Given the description of an element on the screen output the (x, y) to click on. 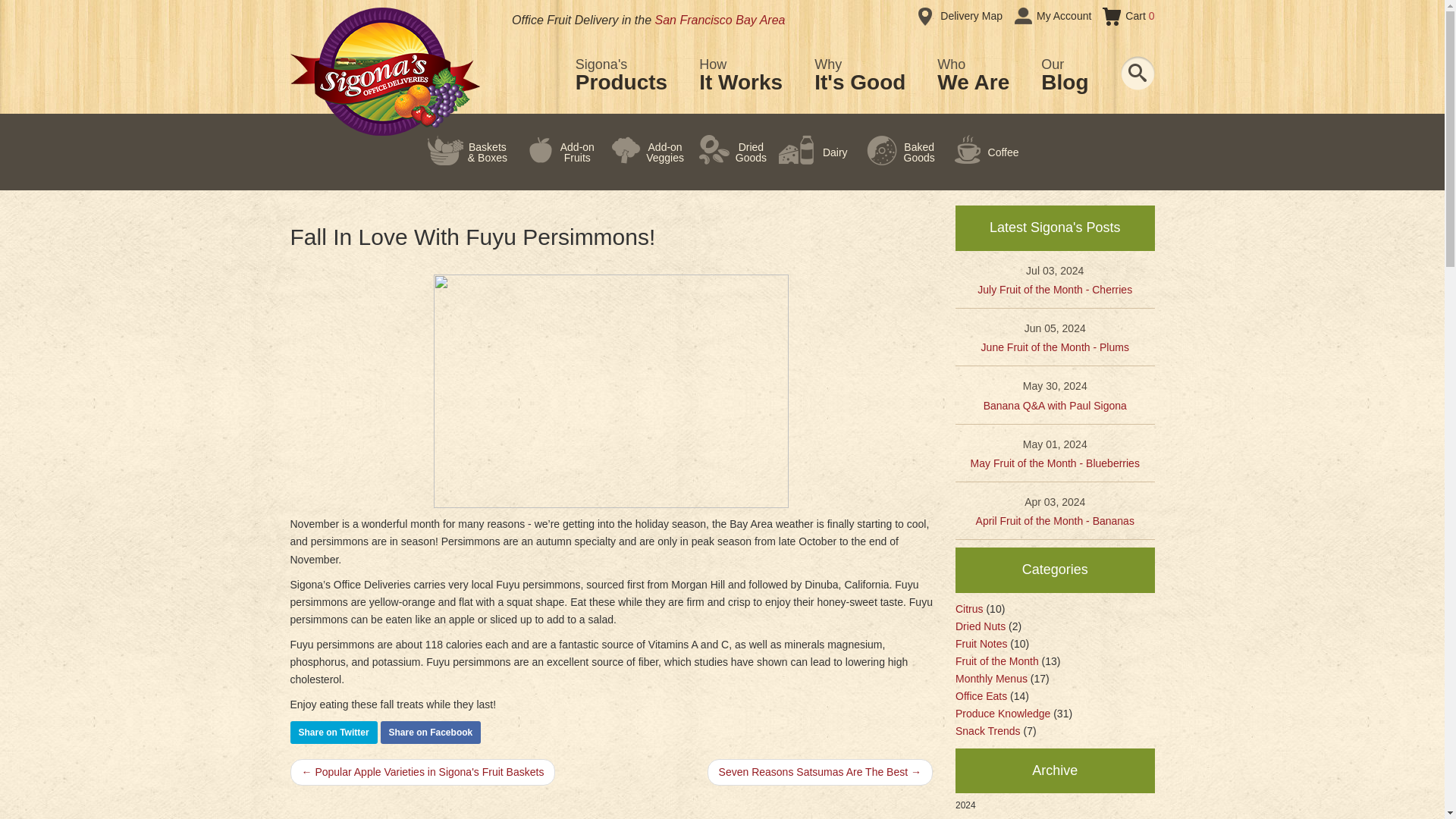
Add-on Veggies (645, 151)
Dairy (814, 151)
Baked Goods (899, 151)
Dried Goods (620, 75)
Cart 0 (740, 75)
My Account (973, 75)
Add-on Fruits (1064, 75)
Delivery Map (731, 151)
